Given the description of an element on the screen output the (x, y) to click on. 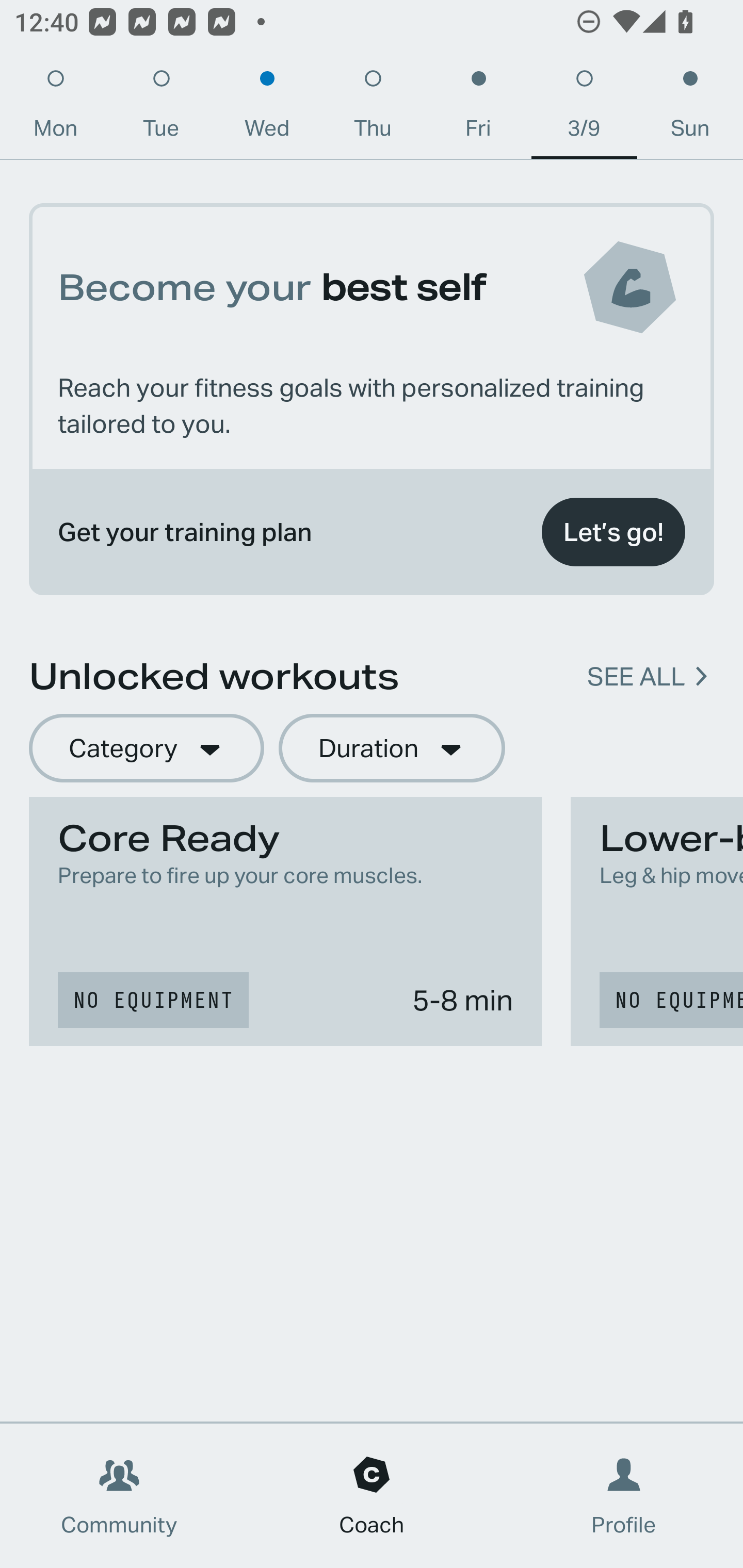
Mon (55, 108)
Tue (160, 108)
Wed (266, 108)
Thu (372, 108)
Fri (478, 108)
3/9 (584, 108)
Sun (690, 108)
Let’s go! (613, 532)
SEE ALL (635, 676)
Category (146, 748)
Duration (391, 748)
Community (119, 1495)
Profile (624, 1495)
